Given the description of an element on the screen output the (x, y) to click on. 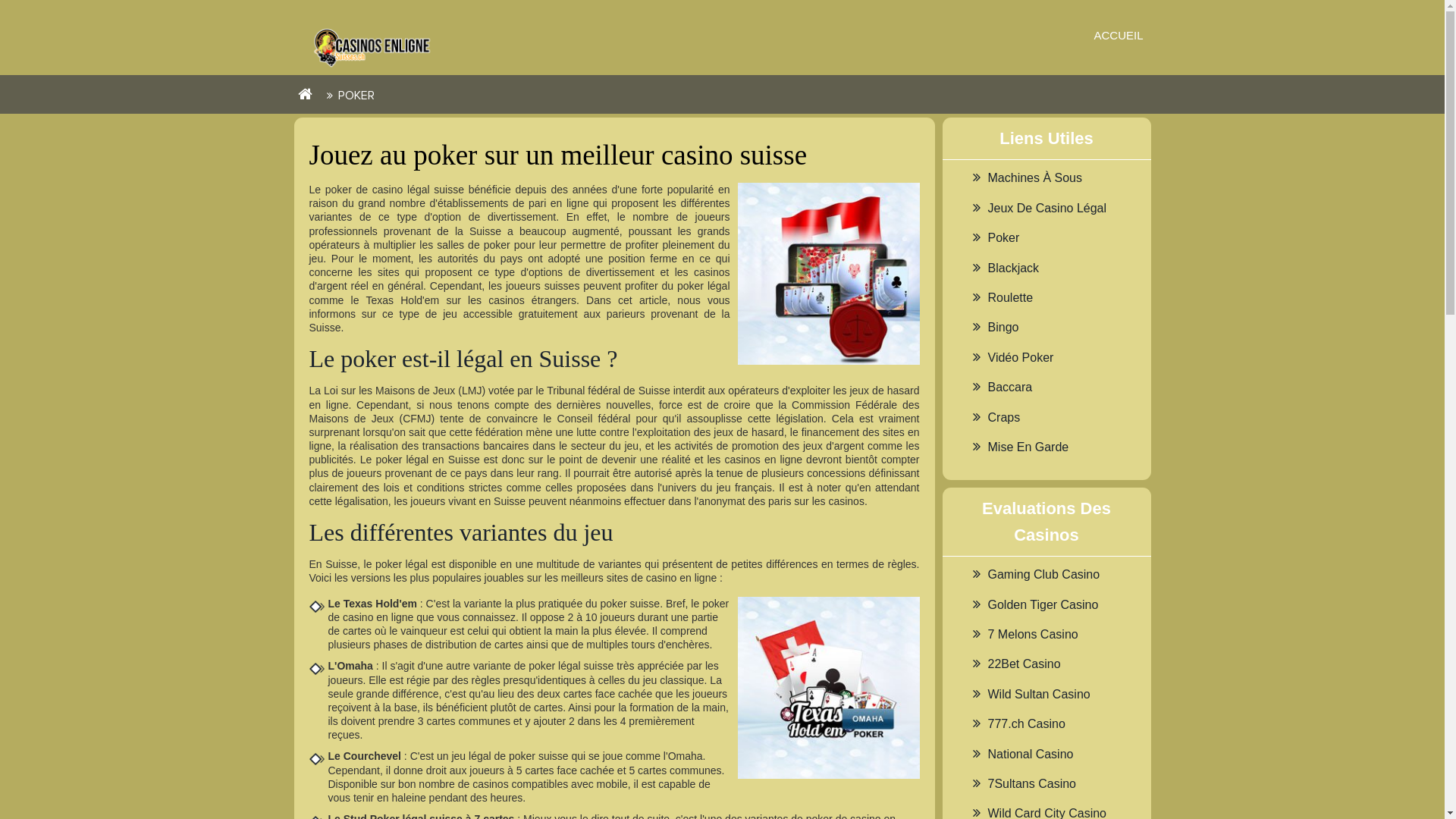
Gaming Club Casino Element type: text (1043, 573)
Bingo Element type: text (1002, 326)
Poker Element type: text (1003, 237)
Blackjack Element type: text (1012, 267)
Roulette Element type: text (1009, 297)
Golden Tiger Casino Element type: text (1042, 604)
7 Melons Casino Element type: text (1032, 633)
ACCUEIL Element type: text (1118, 34)
Wild Sultan Casino Element type: text (1038, 693)
Craps Element type: text (1003, 417)
Mise En Garde Element type: text (1027, 446)
777.ch Casino Element type: text (1025, 723)
National Casino Element type: text (1030, 753)
Baccara Element type: text (1009, 386)
7Sultans Casino Element type: text (1031, 783)
22Bet Casino Element type: text (1023, 663)
